Given the description of an element on the screen output the (x, y) to click on. 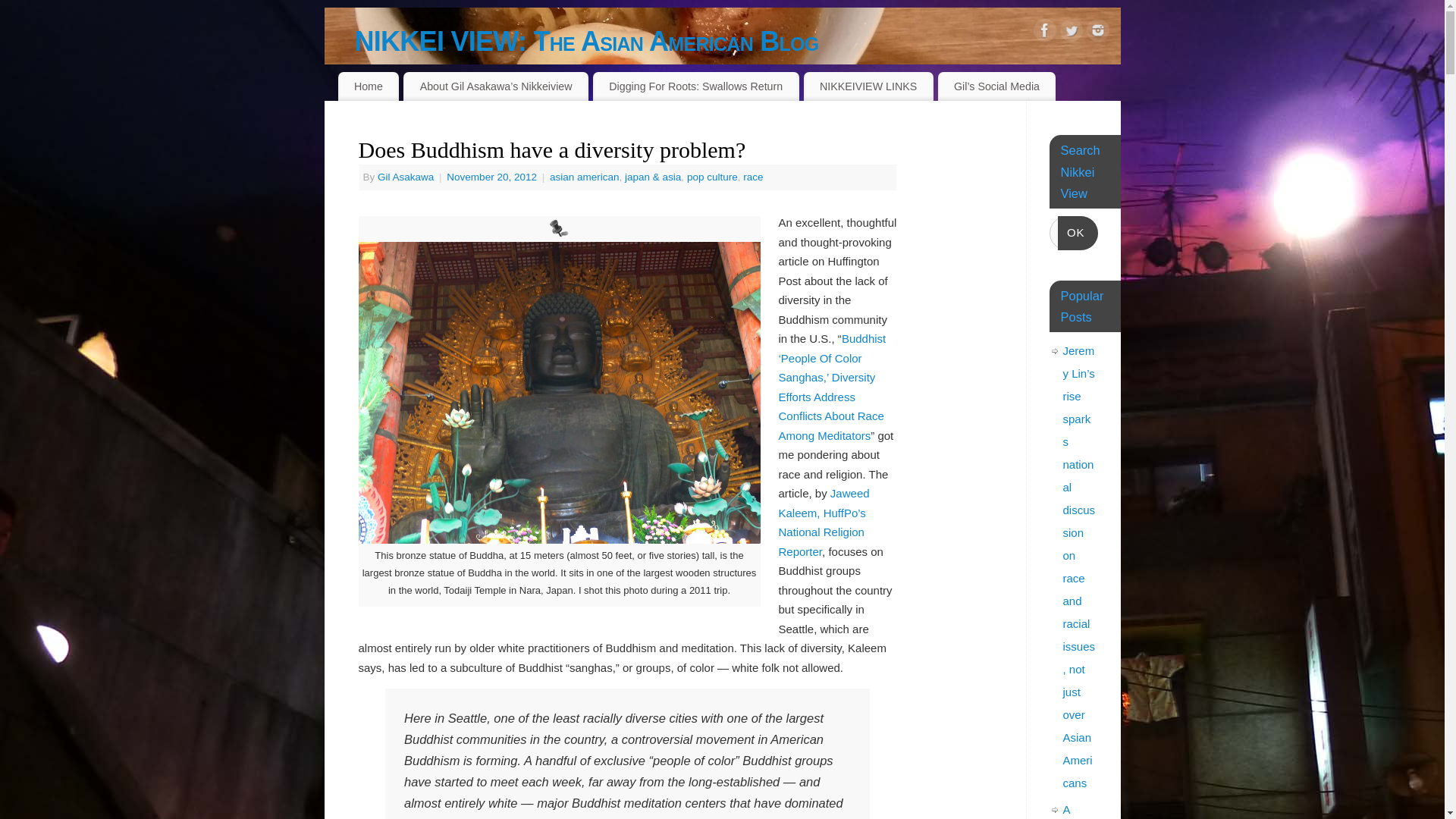
Gil Asakawa (405, 176)
race (752, 176)
NIKKEI VIEW: The Asian American Blog (738, 41)
asian american (585, 176)
pop culture (712, 176)
November 20, 2012 (492, 176)
View all posts by Gil Asakawa (405, 176)
NIKKEIVIEW LINKS (868, 86)
Digging For Roots: Swallows Return (695, 86)
Bronze Buddha at Todaiji Temple, Nara, Japan (559, 392)
